Given the description of an element on the screen output the (x, y) to click on. 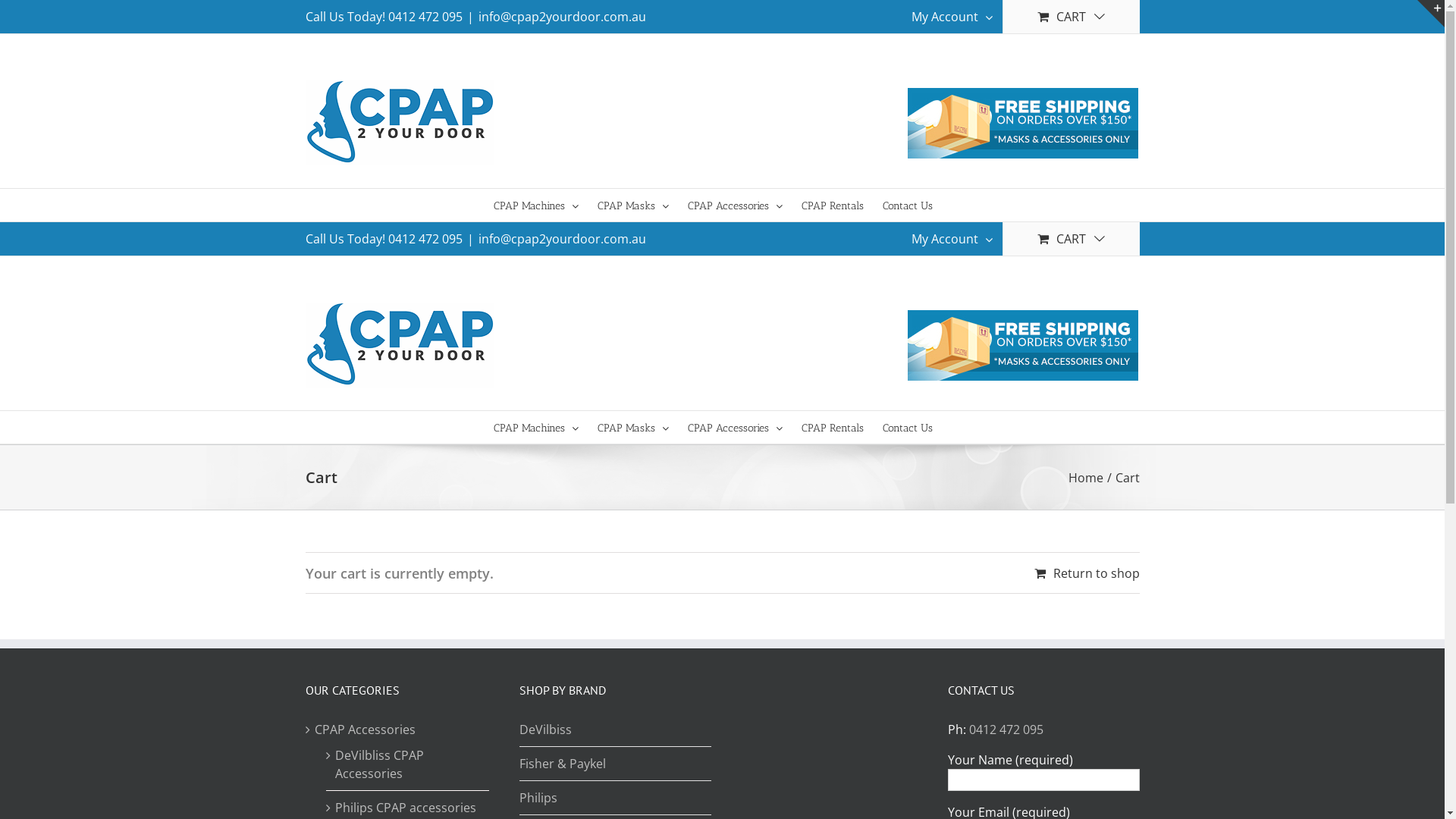
Return to shop Element type: text (1086, 572)
Philips CPAP accessories Element type: text (405, 807)
Contact Us Element type: text (907, 204)
info@cpap2yourdoor.com.au Element type: text (561, 238)
info@cpap2yourdoor.com.au Element type: text (561, 16)
Log In Element type: text (994, 366)
CPAP Rentals Element type: text (831, 427)
Log In Element type: text (994, 144)
CPAP Machines Element type: text (534, 204)
DeVilbiss Element type: text (615, 733)
CPAP Rentals Element type: text (831, 204)
My Account Element type: text (950, 16)
Contact Us Element type: text (907, 427)
CPAP Machines Element type: text (534, 427)
Philips Element type: text (615, 797)
Toggle Sliding Bar Area Element type: text (1430, 13)
CART Element type: text (1070, 16)
CPAP Masks Element type: text (632, 204)
CART Element type: text (1070, 238)
CPAP Accessories Element type: text (734, 204)
Home Element type: text (1084, 476)
CPAP Accessories Element type: text (363, 729)
DeVilbliss CPAP Accessories Element type: text (408, 764)
My Account Element type: text (950, 238)
0412 472 095 Element type: text (1006, 729)
0412 472 095 Element type: text (425, 16)
CPAP Accessories Element type: text (734, 427)
Fisher & Paykel Element type: text (615, 763)
0412 472 095 Element type: text (425, 238)
CPAP Masks Element type: text (632, 427)
